Given the description of an element on the screen output the (x, y) to click on. 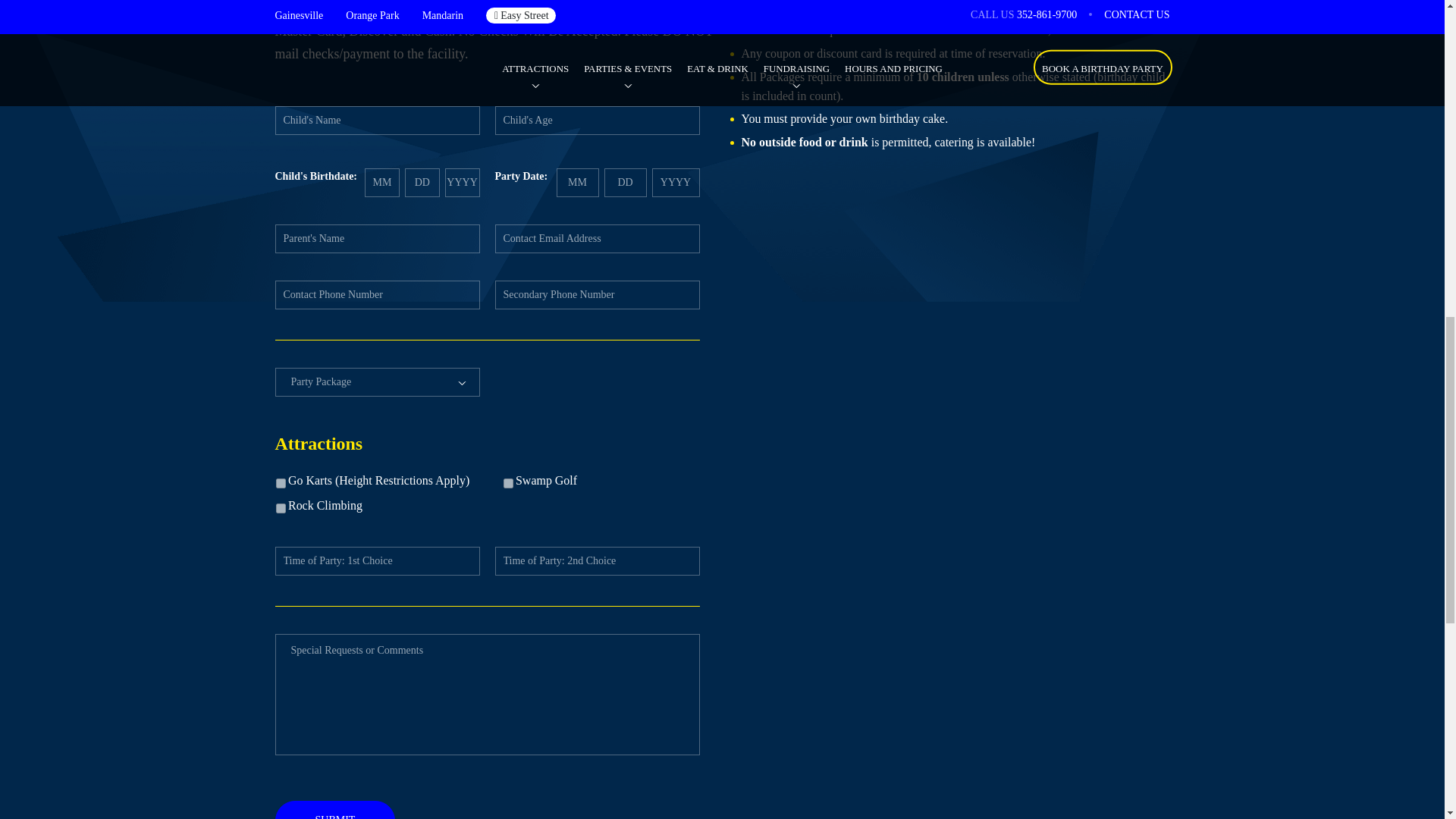
Swamp Golf (508, 483)
Submit (334, 809)
Submit (334, 809)
Rock Climbing (280, 508)
